Given the description of an element on the screen output the (x, y) to click on. 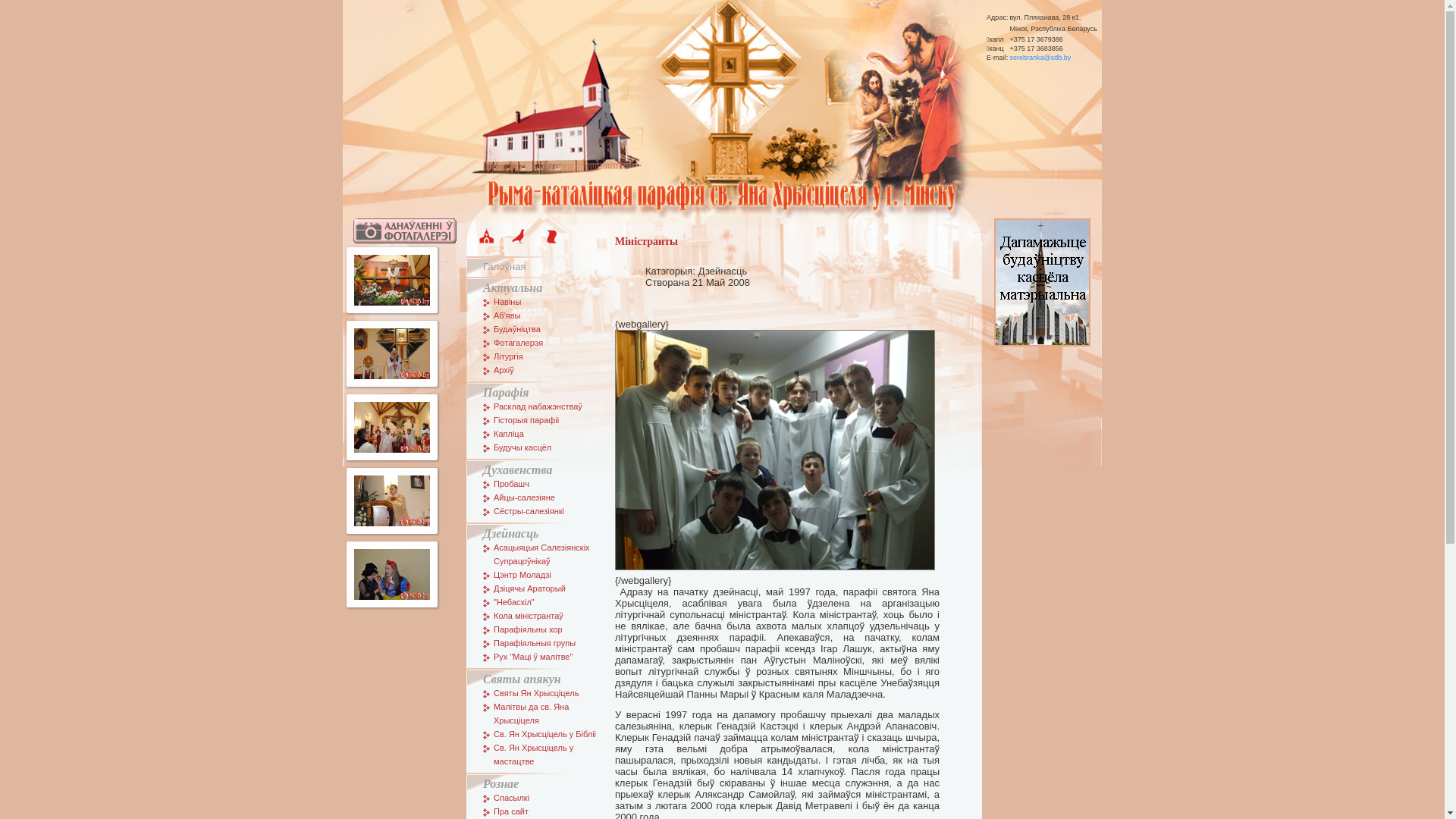
serebranka@sdb.by Element type: text (1039, 58)
